Given the description of an element on the screen output the (x, y) to click on. 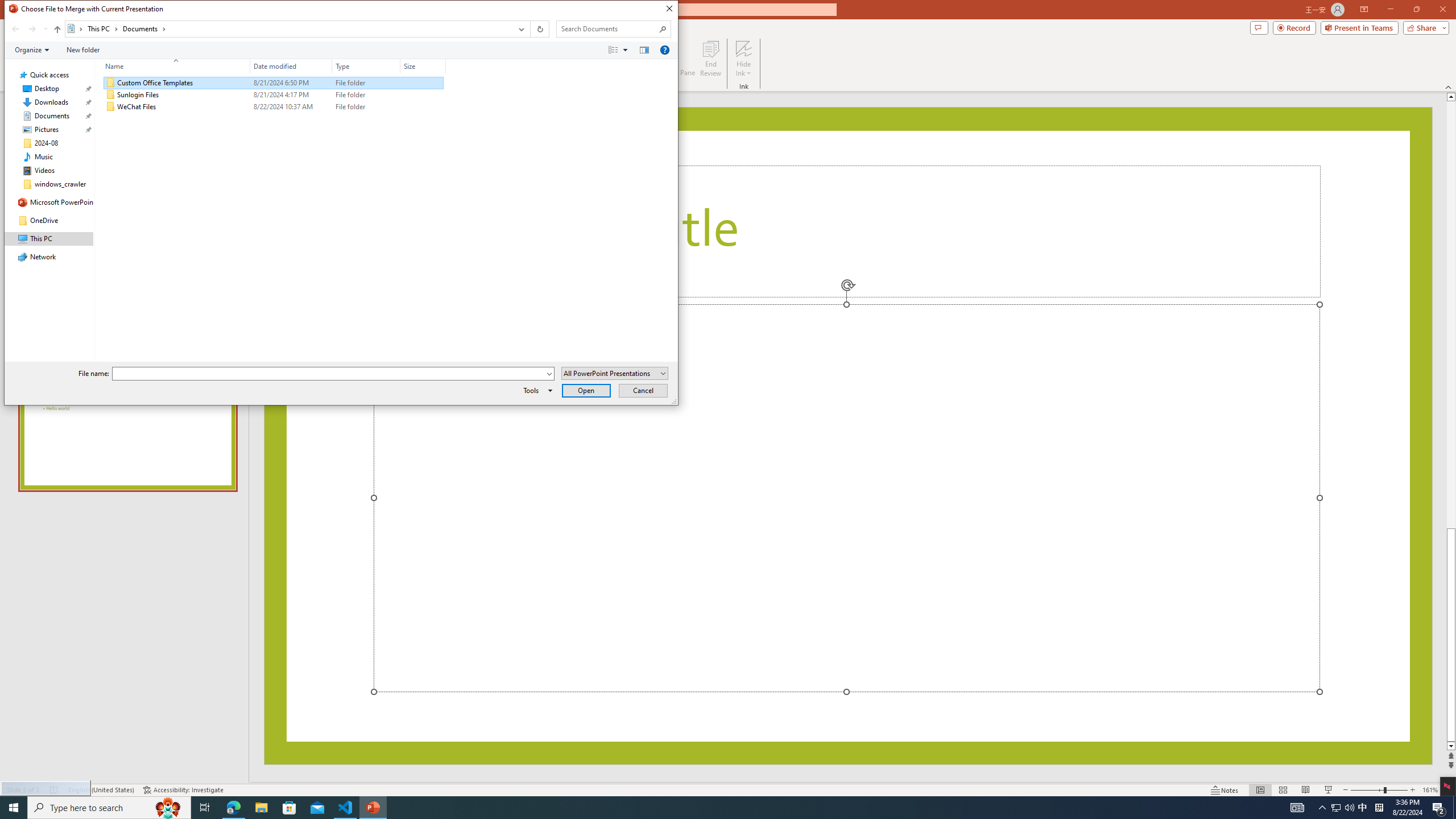
Navigation buttons (28, 28)
